Given the description of an element on the screen output the (x, y) to click on. 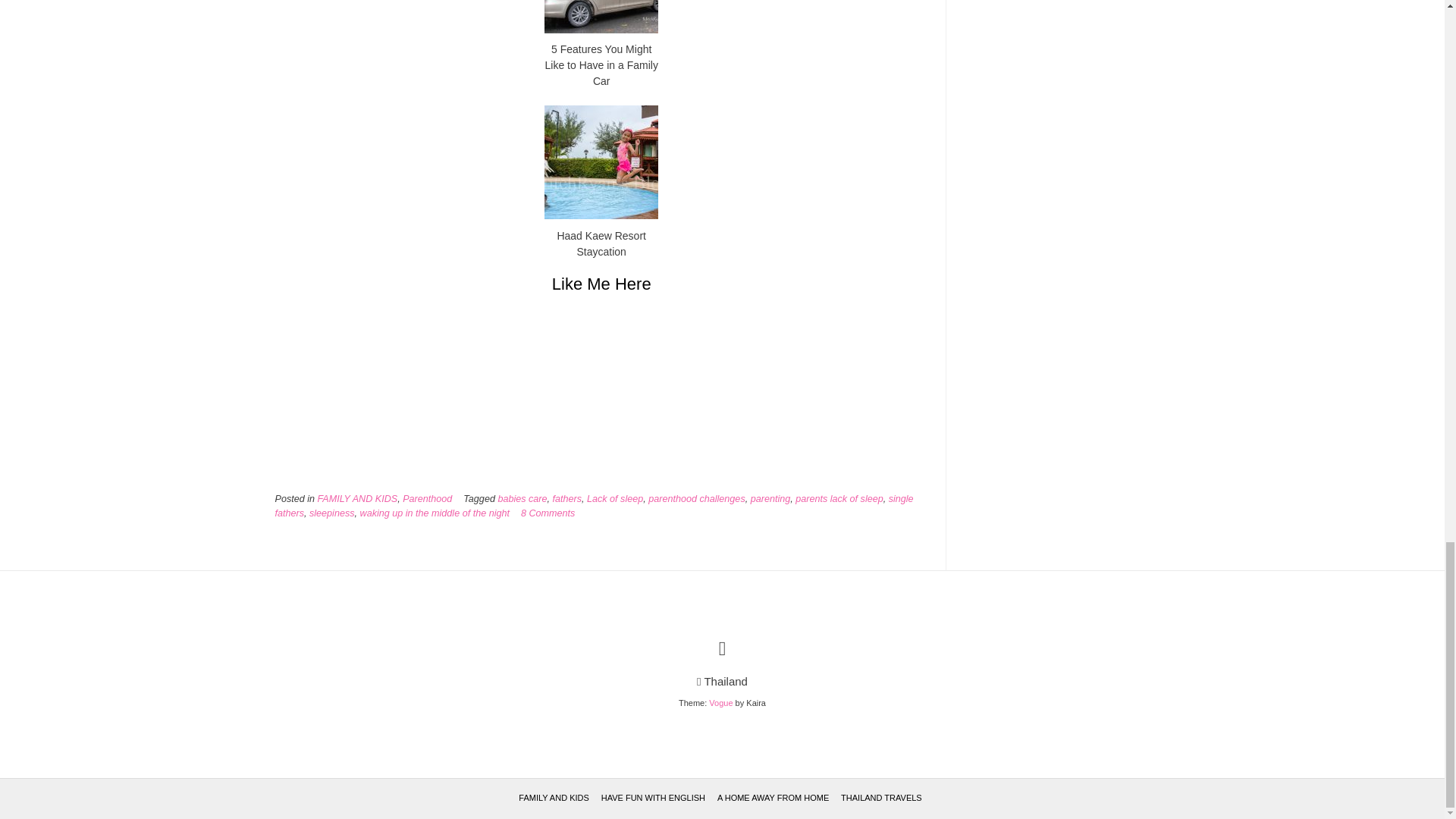
waking up in the middle of the night (434, 512)
babies care (522, 498)
parenthood challenges (695, 498)
single fathers (593, 505)
FAMILY AND KIDS (357, 498)
parents lack of sleep (838, 498)
parenting (770, 498)
sleepiness (331, 512)
fathers (565, 498)
Lack of sleep (614, 498)
